Given the description of an element on the screen output the (x, y) to click on. 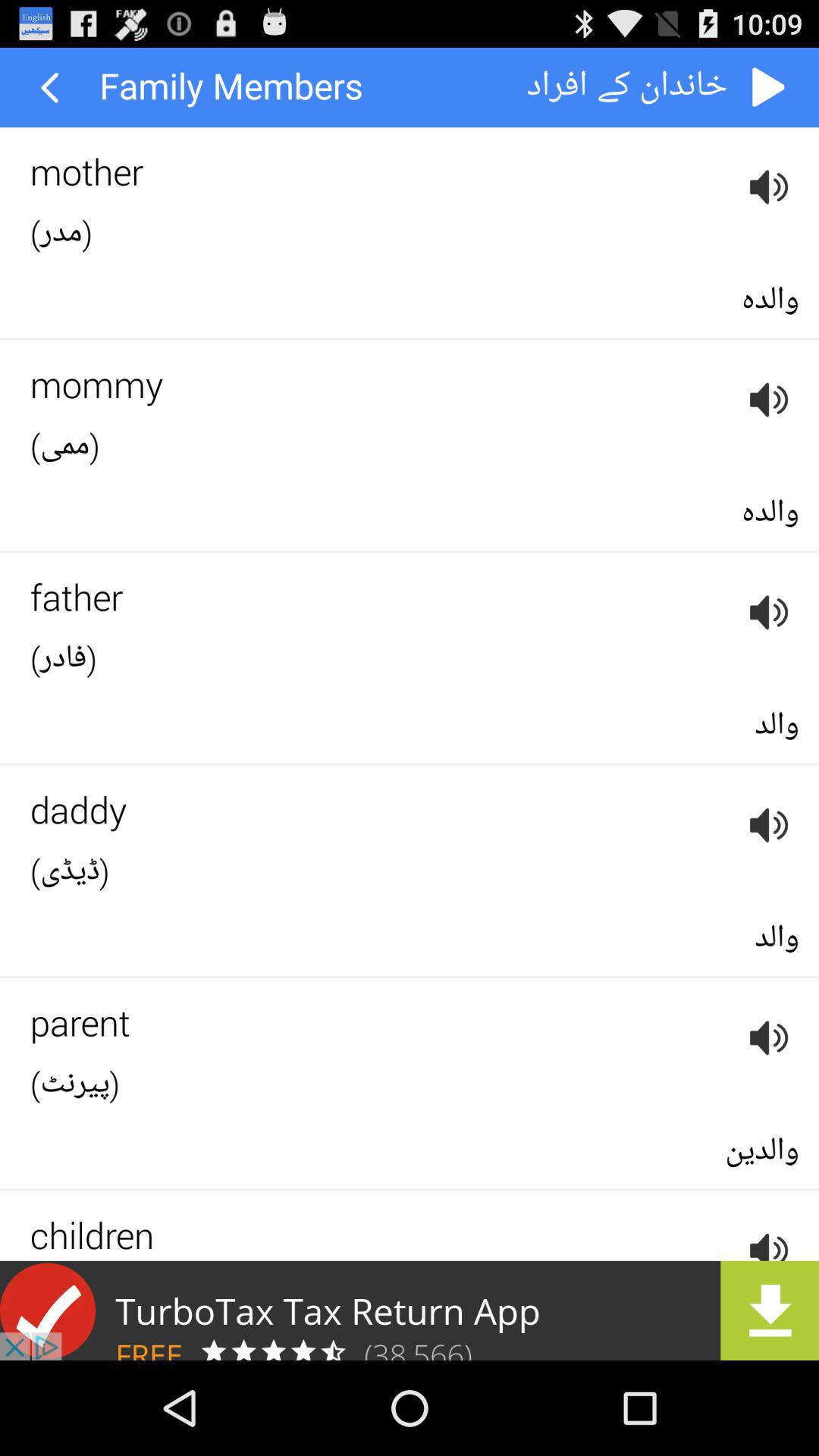
go to back (768, 87)
